Given the description of an element on the screen output the (x, y) to click on. 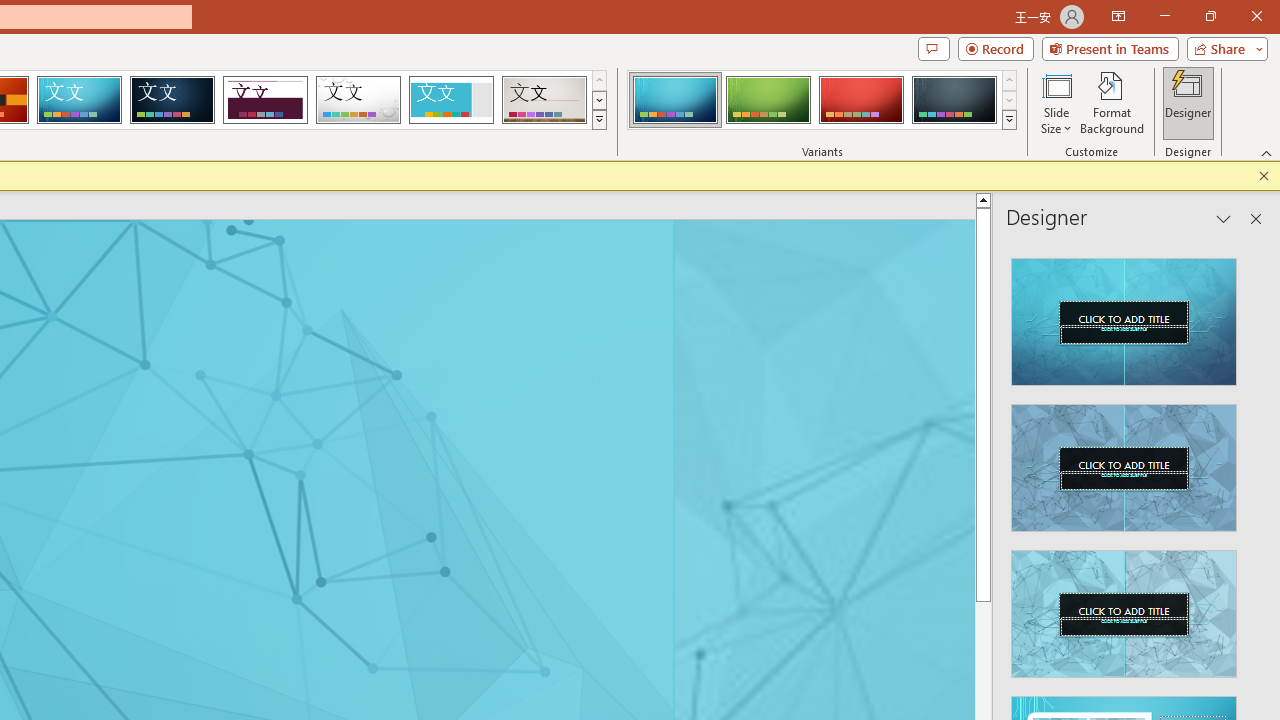
Circuit Variant 2 (768, 100)
Gallery (544, 100)
AutomationID: ThemeVariantsGallery (822, 99)
Dividend (265, 100)
Recommended Design: Design Idea (1124, 315)
Slide Size (1056, 102)
Design Idea (1124, 607)
